Given the description of an element on the screen output the (x, y) to click on. 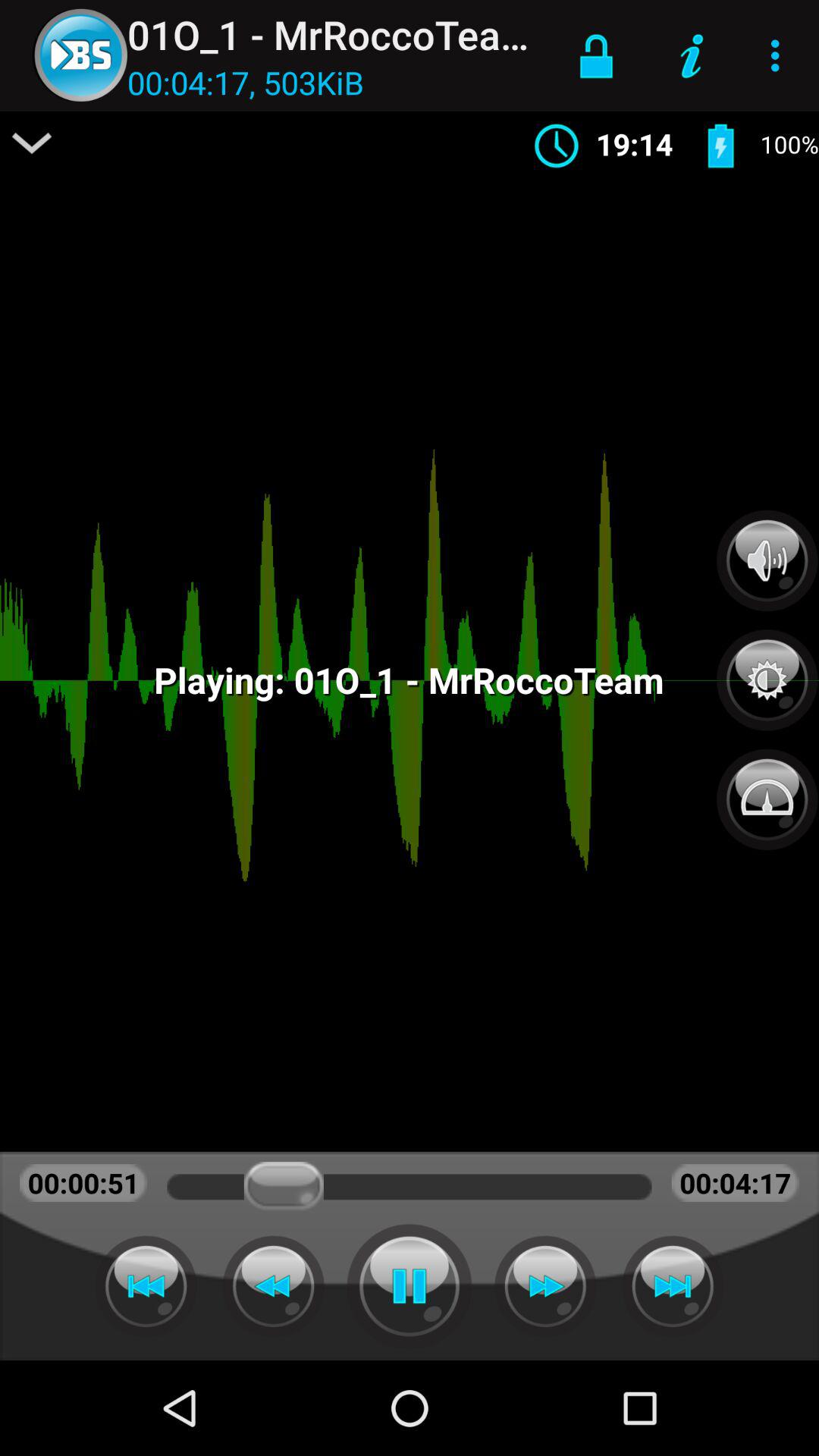
skip audio (672, 1286)
